Given the description of an element on the screen output the (x, y) to click on. 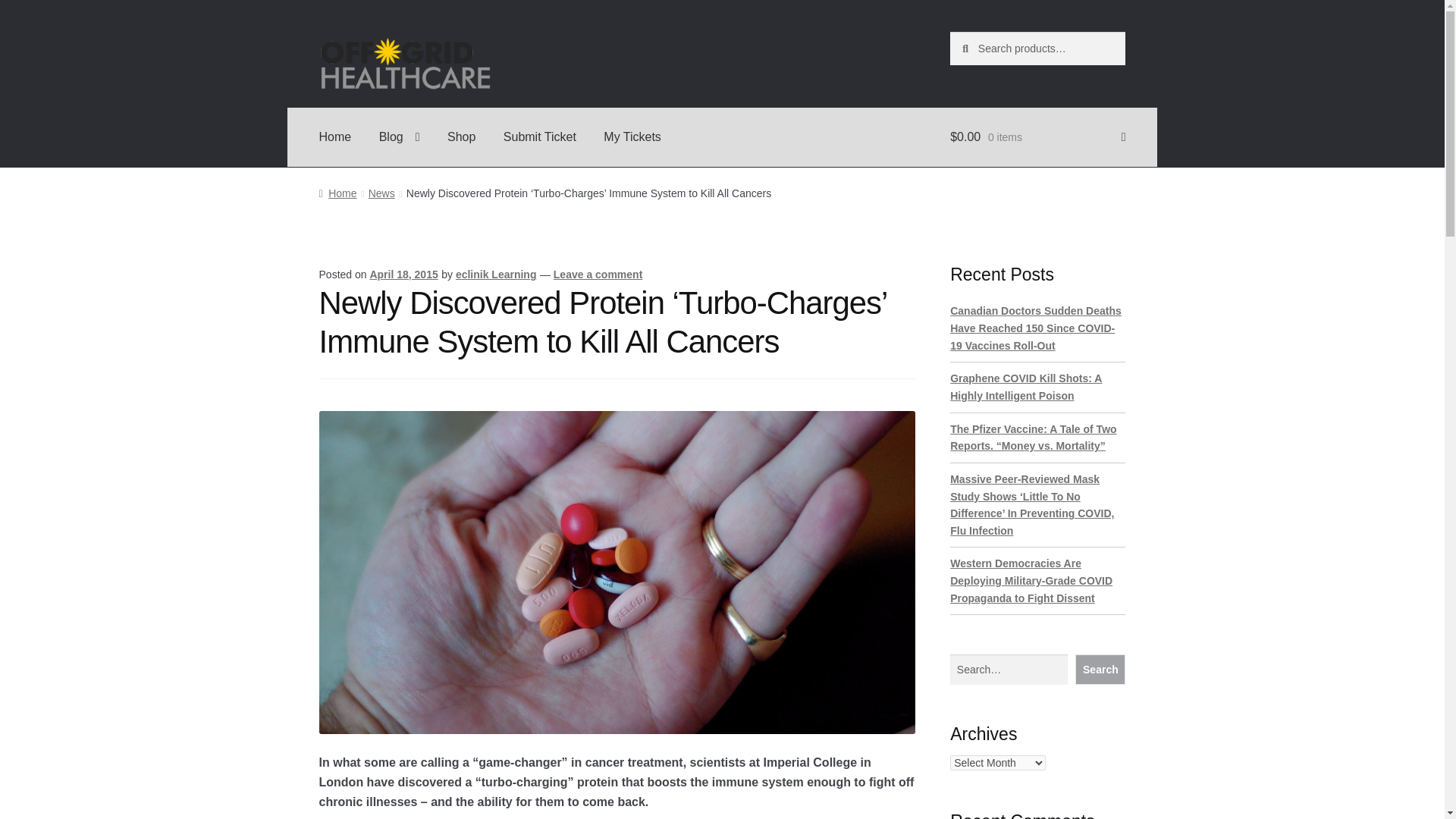
My Tickets (631, 137)
Submit Ticket (540, 137)
View your shopping cart (1037, 137)
Blog (399, 137)
Home (335, 137)
